Given the description of an element on the screen output the (x, y) to click on. 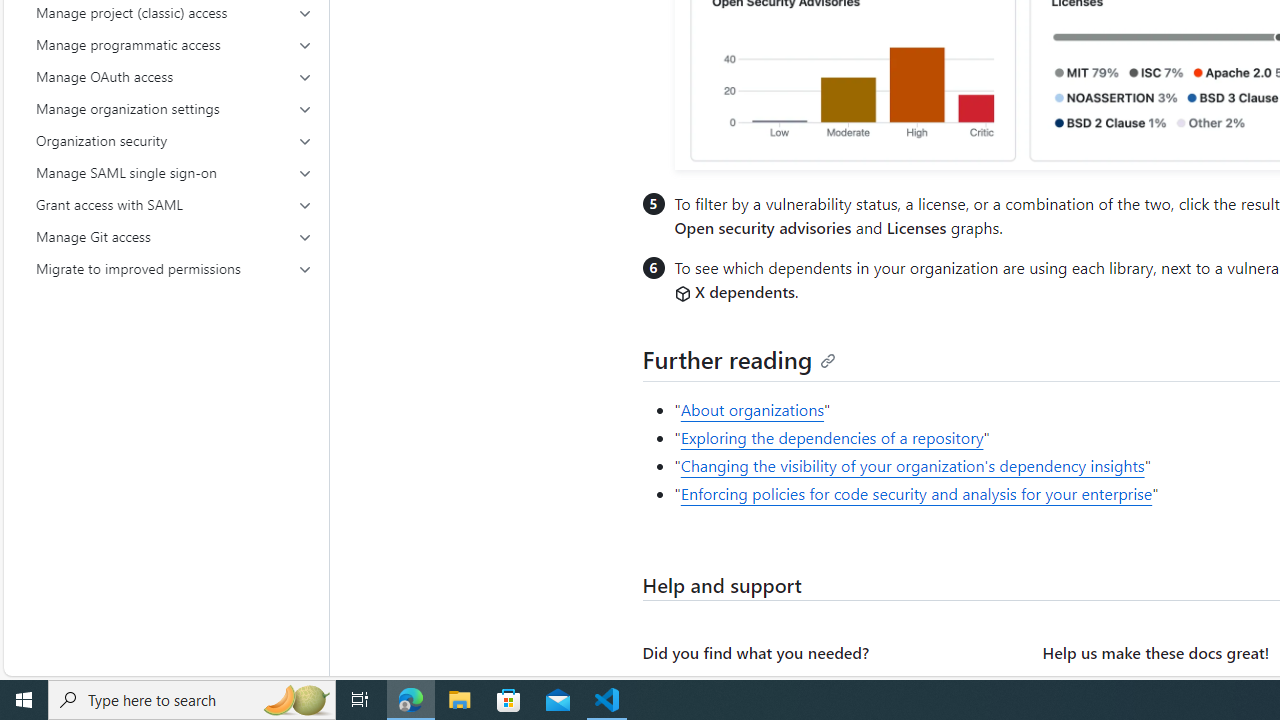
Manage Git access (174, 236)
Migrate to improved permissions (174, 268)
Grant access with SAML (174, 204)
Migrate to improved permissions (174, 268)
Exploring the dependencies of a repository (831, 437)
Manage programmatic access (174, 44)
Organization security (174, 140)
Manage Git access (174, 236)
Organization security (174, 140)
Further reading (739, 358)
Manage SAML single sign-on (174, 172)
About organizations (752, 409)
Manage OAuth access (174, 76)
Manage OAuth access (174, 76)
Manage organization settings (174, 108)
